Given the description of an element on the screen output the (x, y) to click on. 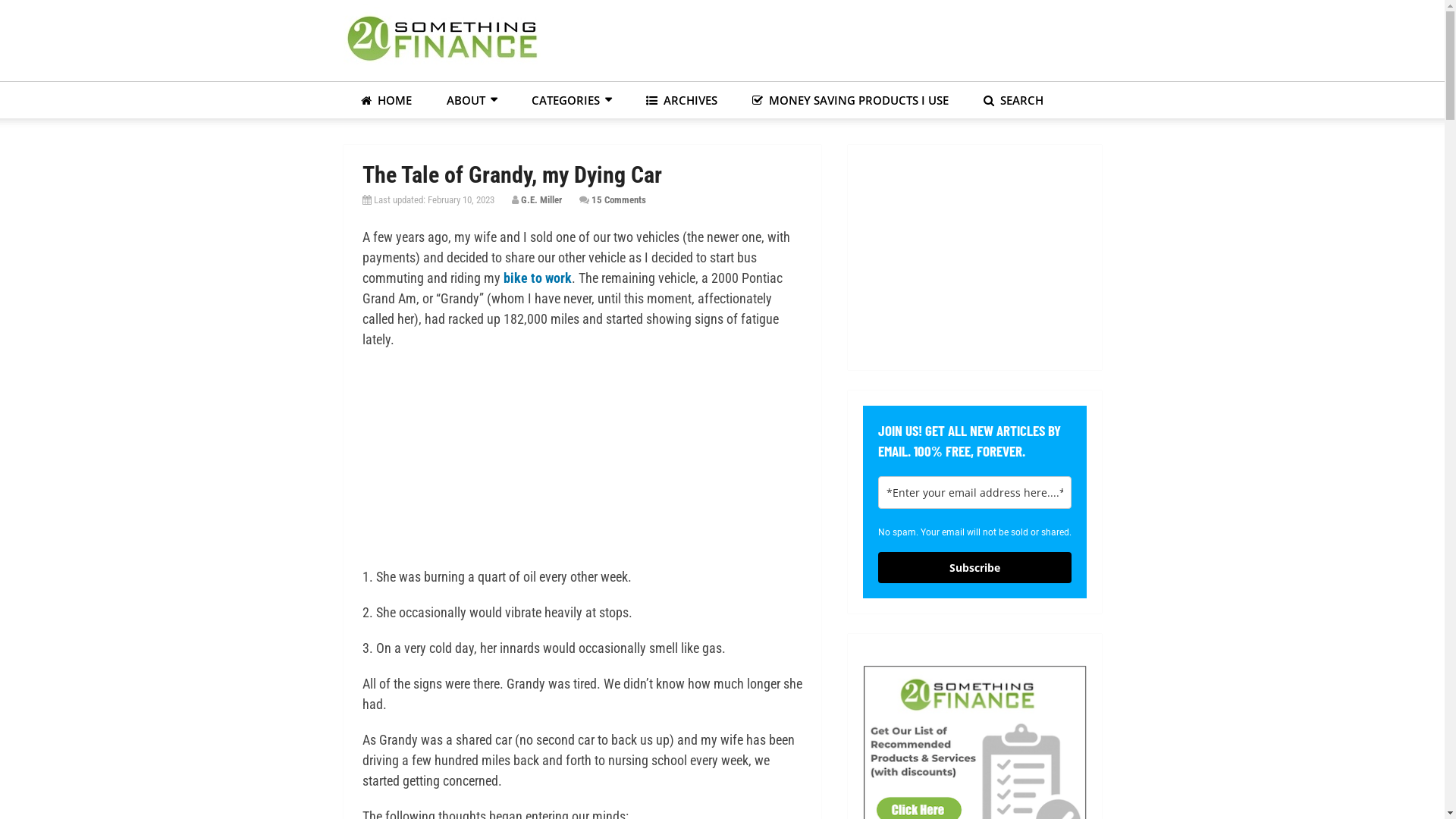
CATEGORIES Element type: text (571, 99)
ARCHIVES Element type: text (680, 99)
SEARCH Element type: text (1013, 99)
Advertisement Element type: hover (976, 254)
Subscribe Element type: text (974, 567)
HOME Element type: text (385, 99)
Advertisement Element type: hover (582, 458)
15 Comments Element type: text (618, 199)
G.E. Miller Element type: text (540, 199)
bike to work Element type: text (537, 277)
MONEY SAVING PRODUCTS I USE Element type: text (849, 99)
ABOUT Element type: text (471, 99)
Advertisement Element type: hover (825, 37)
